Given the description of an element on the screen output the (x, y) to click on. 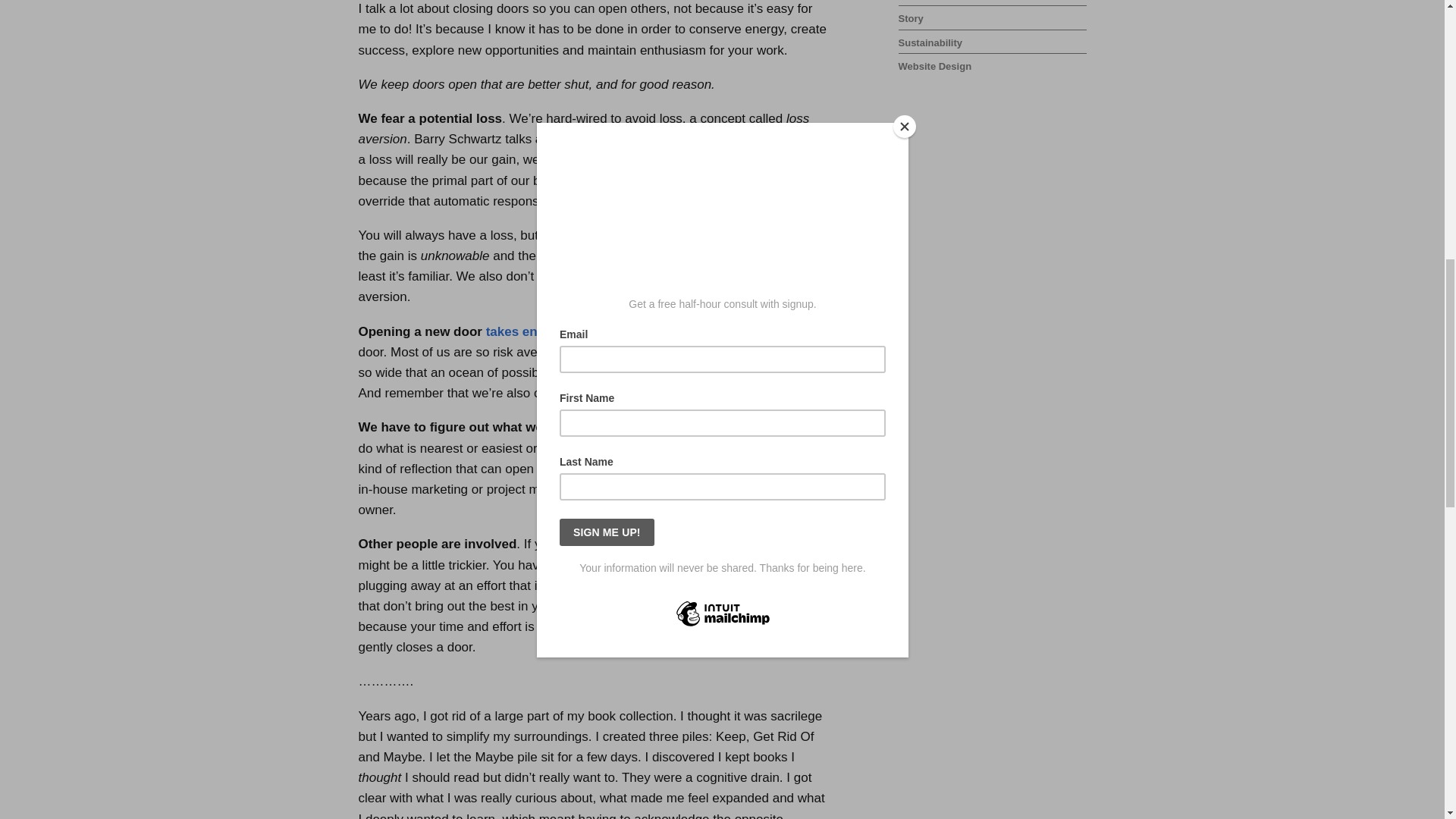
Amazon.com: Paradox of Choice book (710, 138)
takes energy and time (553, 331)
Paradox of Choice (710, 138)
The Cognitive Cost of Doing Things (553, 331)
